Given the description of an element on the screen output the (x, y) to click on. 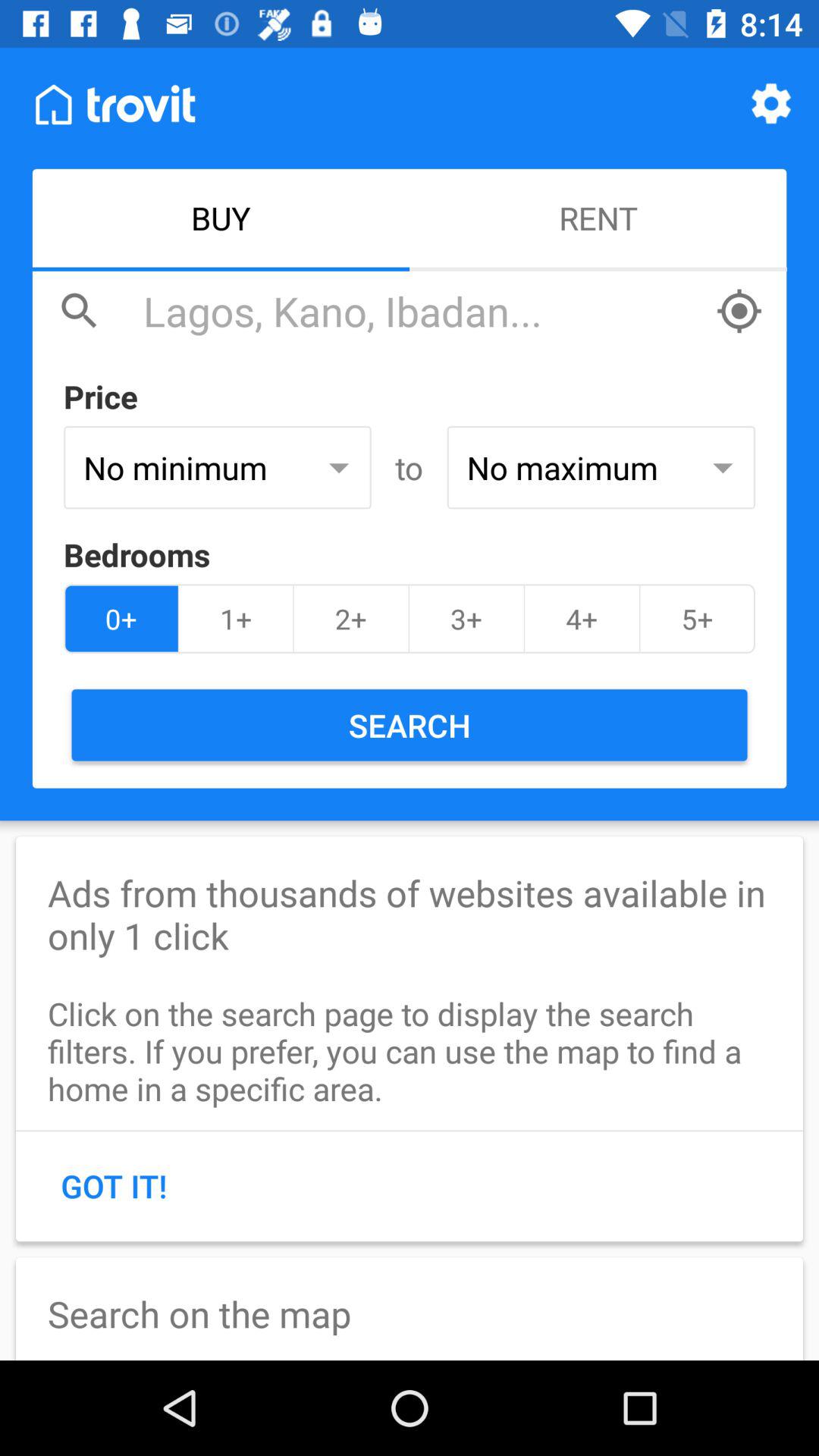
select the item to the right of the 4+ (697, 618)
